Given the description of an element on the screen output the (x, y) to click on. 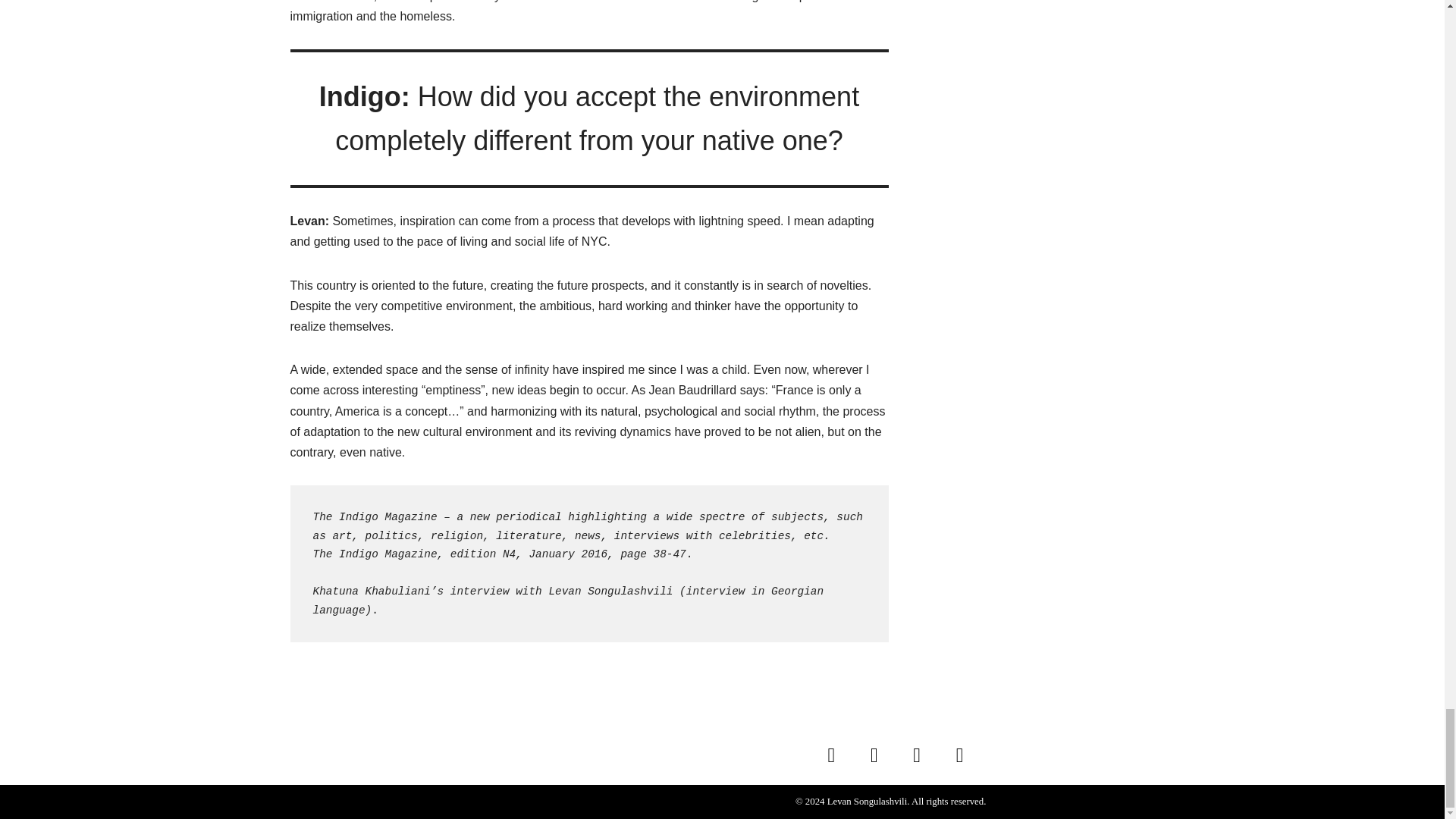
Instagram (830, 755)
Youtube (916, 755)
Facebook (874, 755)
X (960, 755)
